Given the description of an element on the screen output the (x, y) to click on. 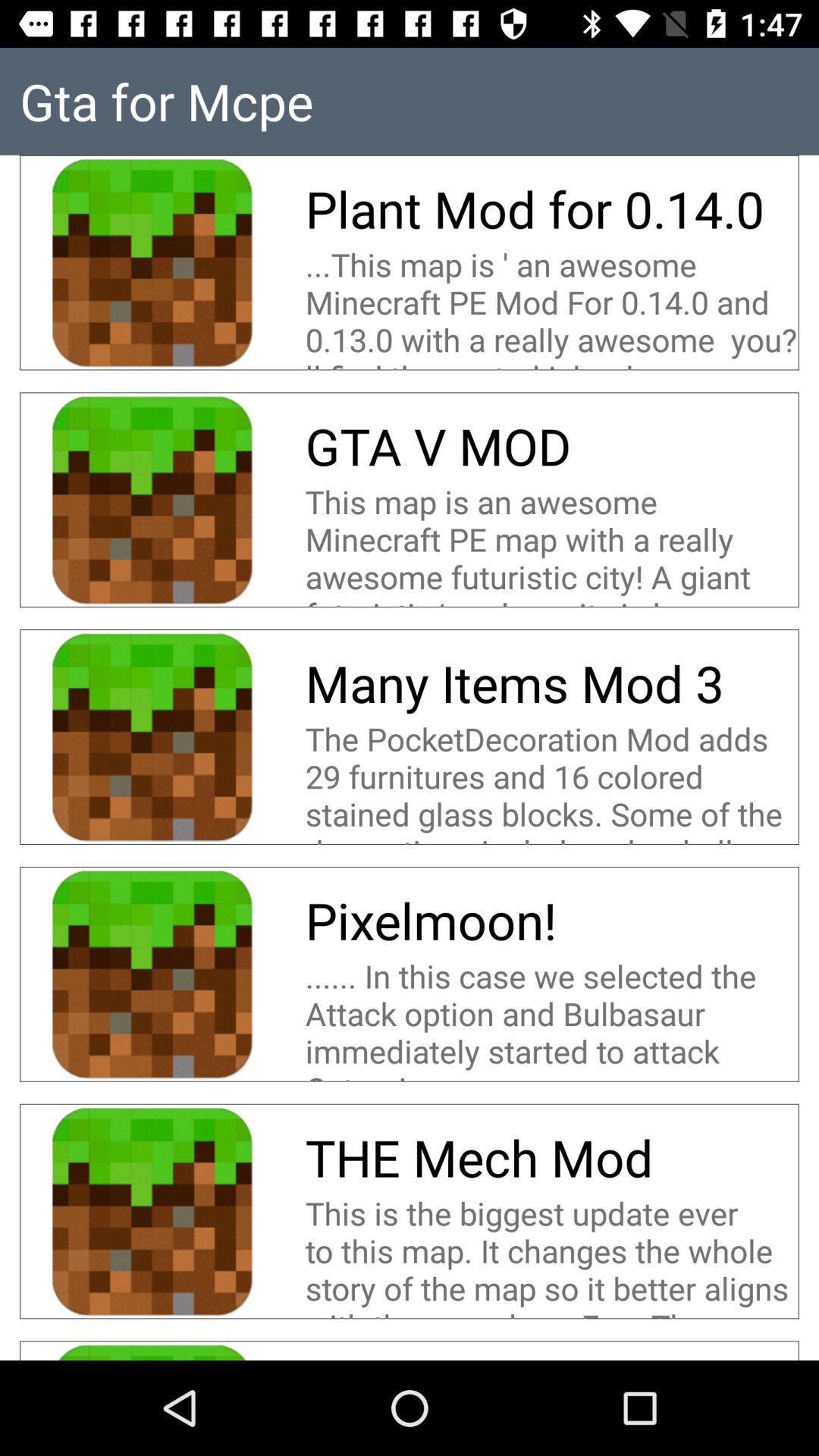
turn off gta v mod (438, 446)
